Given the description of an element on the screen output the (x, y) to click on. 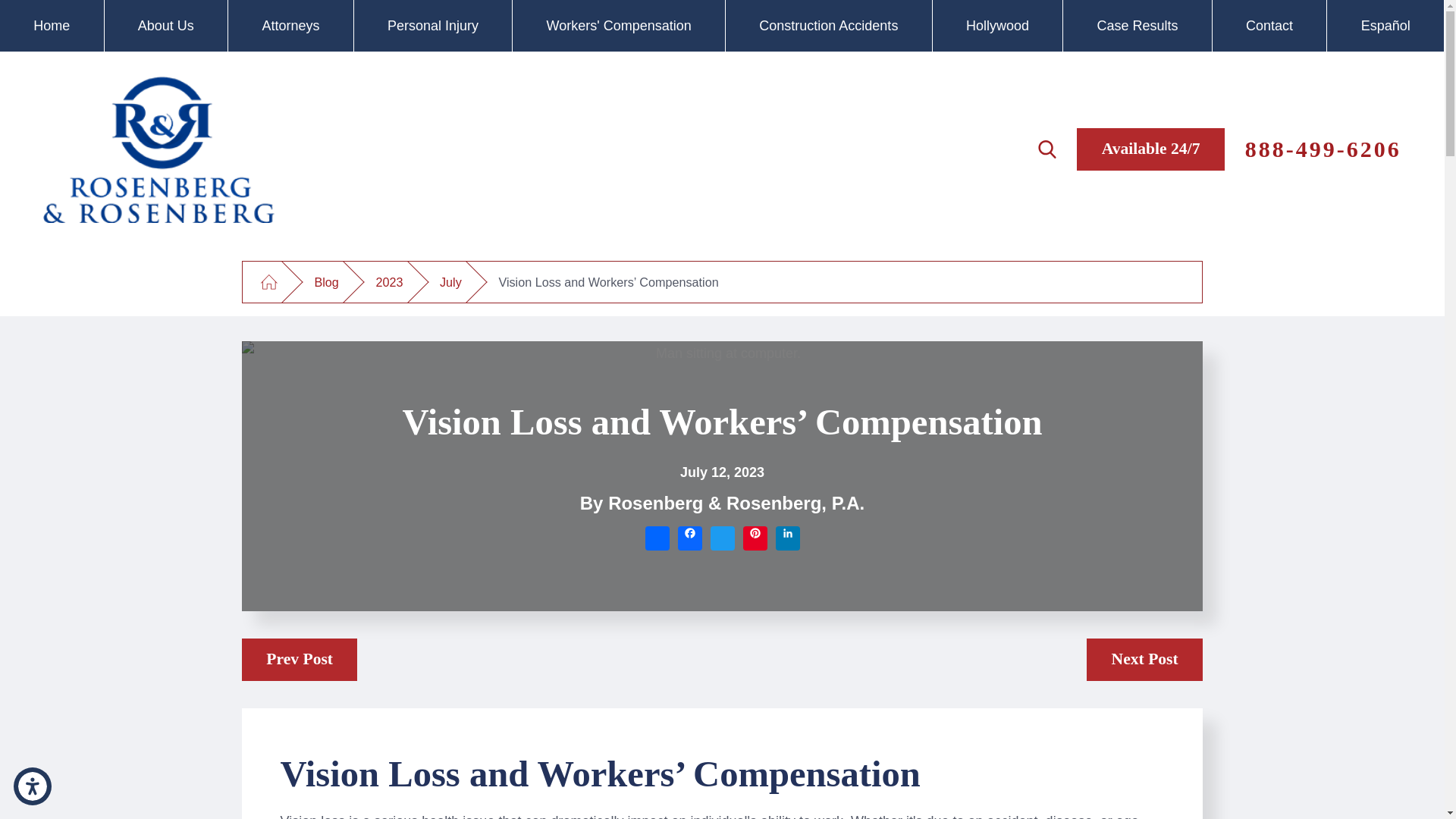
About Us (166, 25)
Open the accessibility options menu (31, 786)
Home (51, 25)
Search Our Site (1047, 149)
Personal Injury (432, 25)
Workers' Compensation (618, 25)
Attorneys (290, 25)
